Given the description of an element on the screen output the (x, y) to click on. 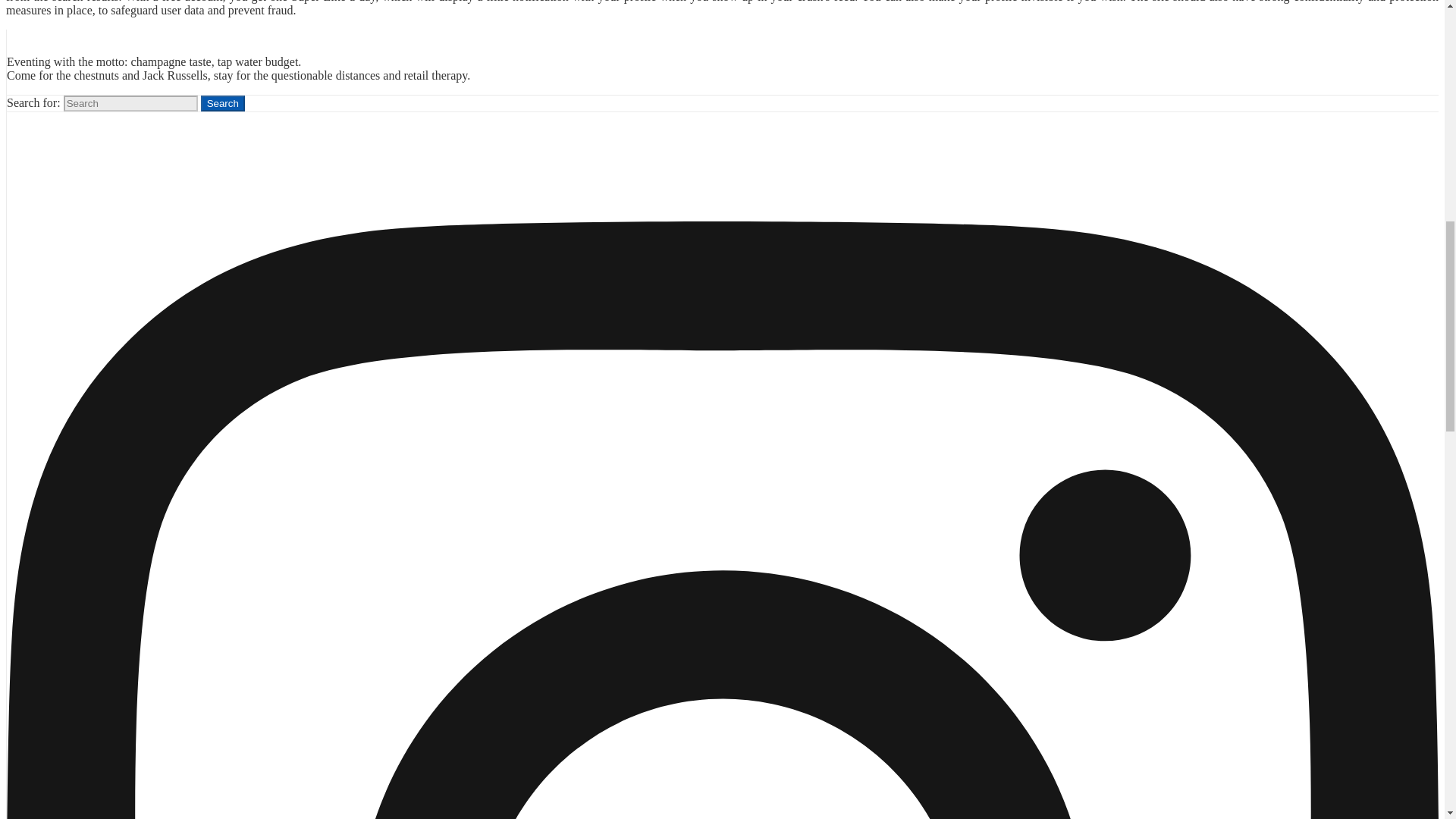
Search (222, 103)
